Given the description of an element on the screen output the (x, y) to click on. 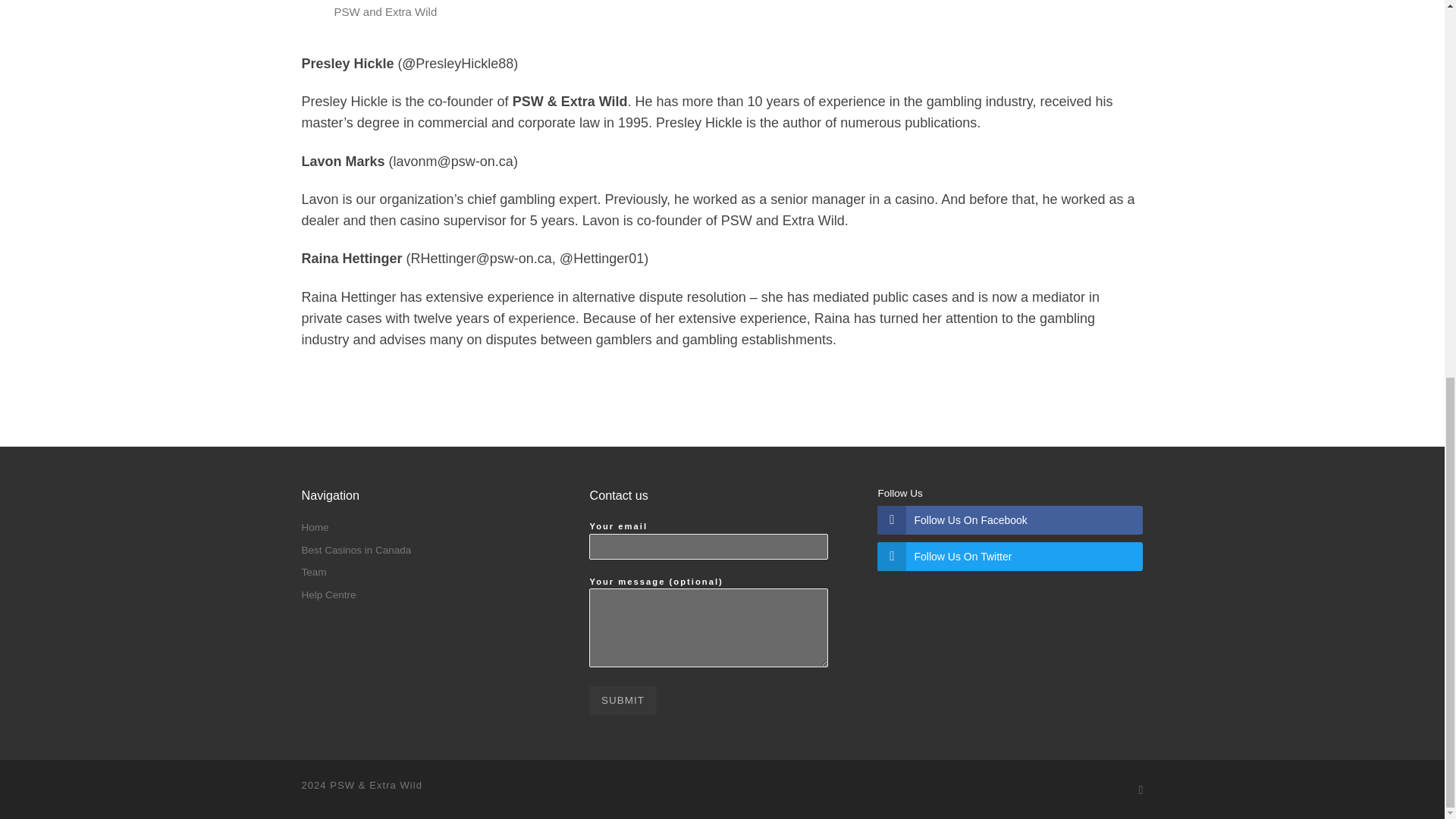
Home (315, 528)
Team (313, 572)
Follow Us On Facebook (1009, 520)
Help Centre (328, 595)
Follow Us On Twitter (1009, 556)
Submit (622, 700)
Best Casinos in Canada (356, 550)
Submit (622, 700)
